Given the description of an element on the screen output the (x, y) to click on. 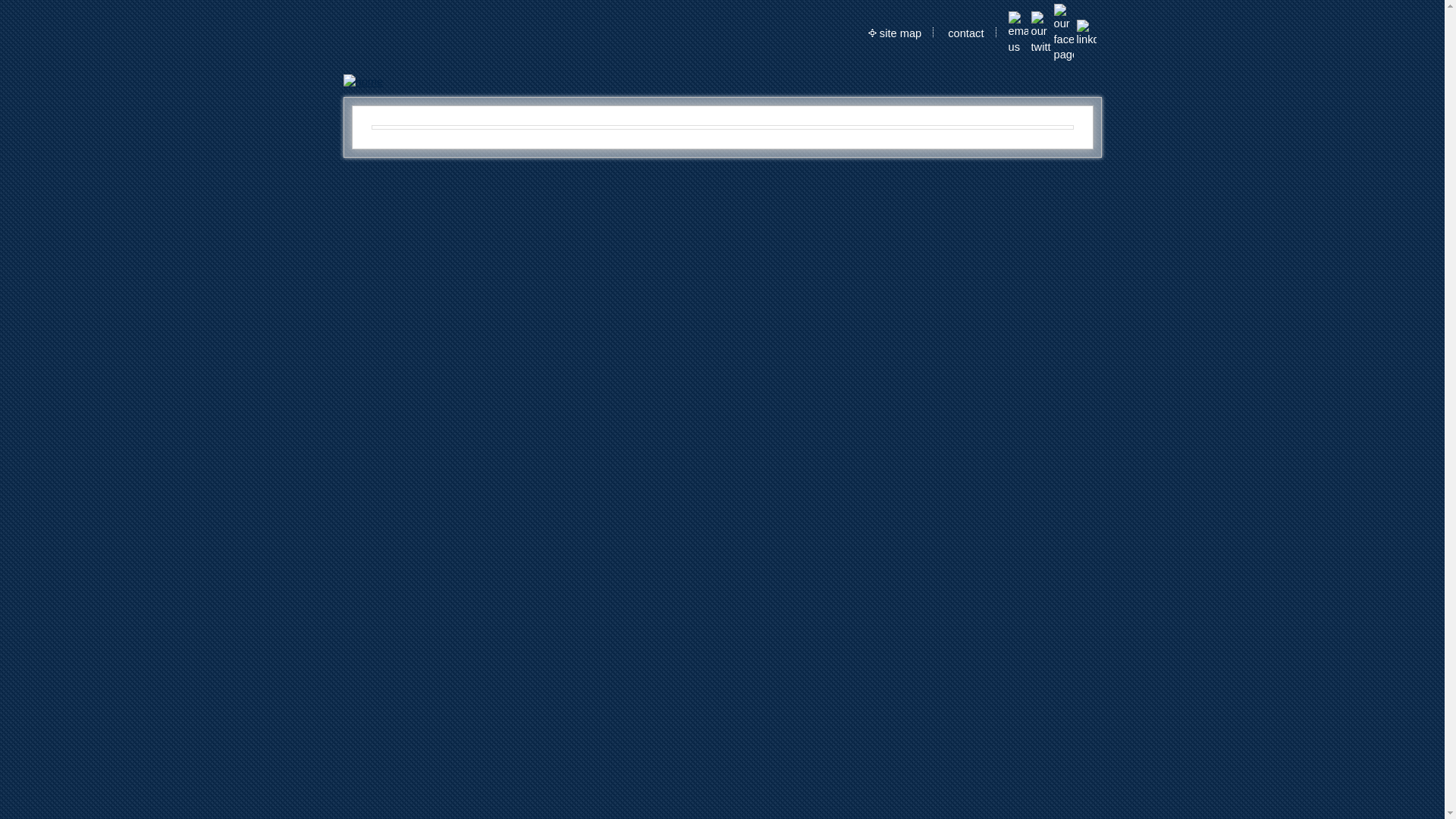
site map (901, 33)
contact (966, 33)
